Given the description of an element on the screen output the (x, y) to click on. 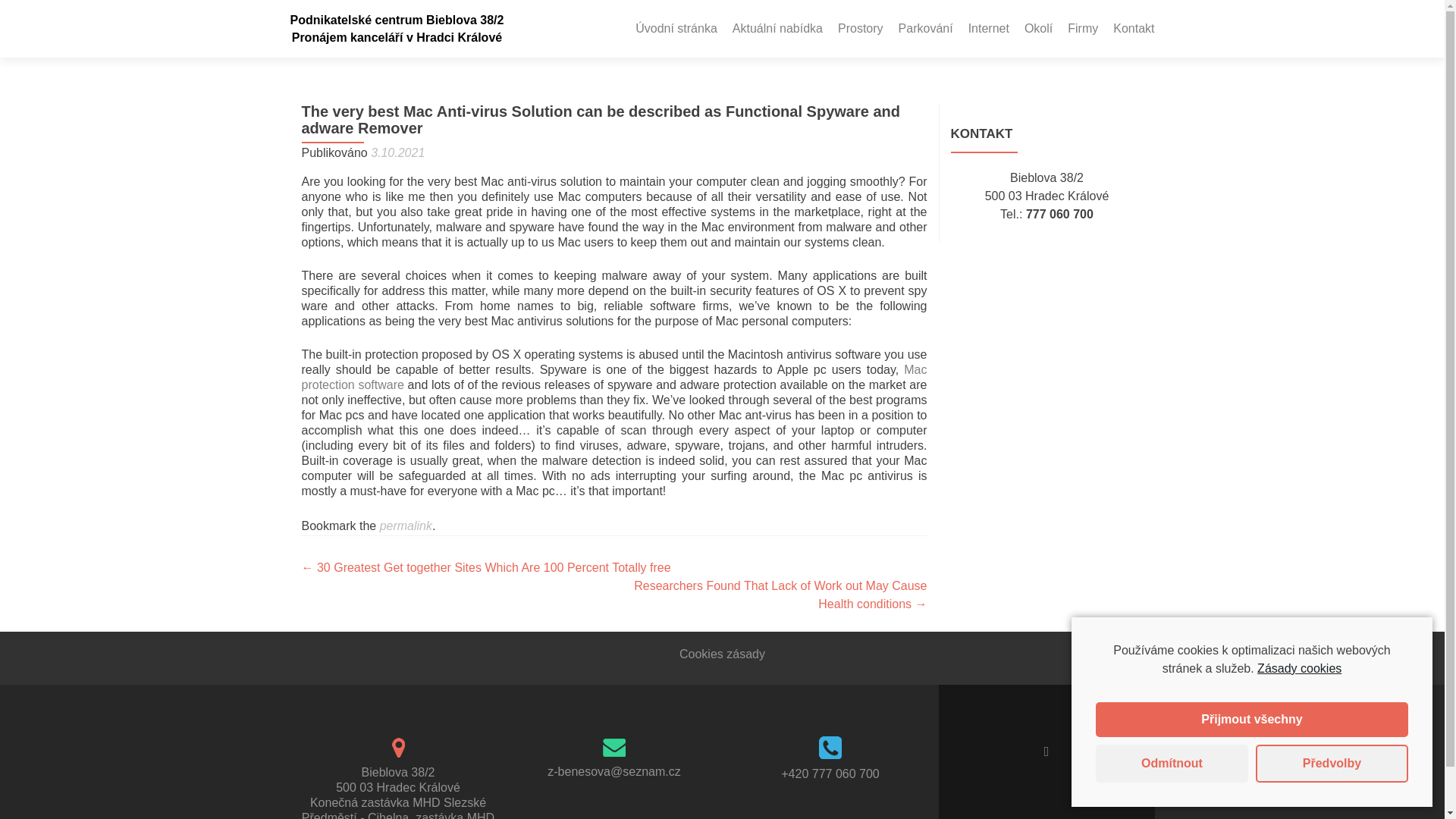
permalink (406, 525)
Firmy (1082, 28)
Prostory (860, 28)
Internet (988, 28)
Kontakt (1133, 28)
Mac protection software (614, 377)
3.10.2021 (398, 152)
